Given the description of an element on the screen output the (x, y) to click on. 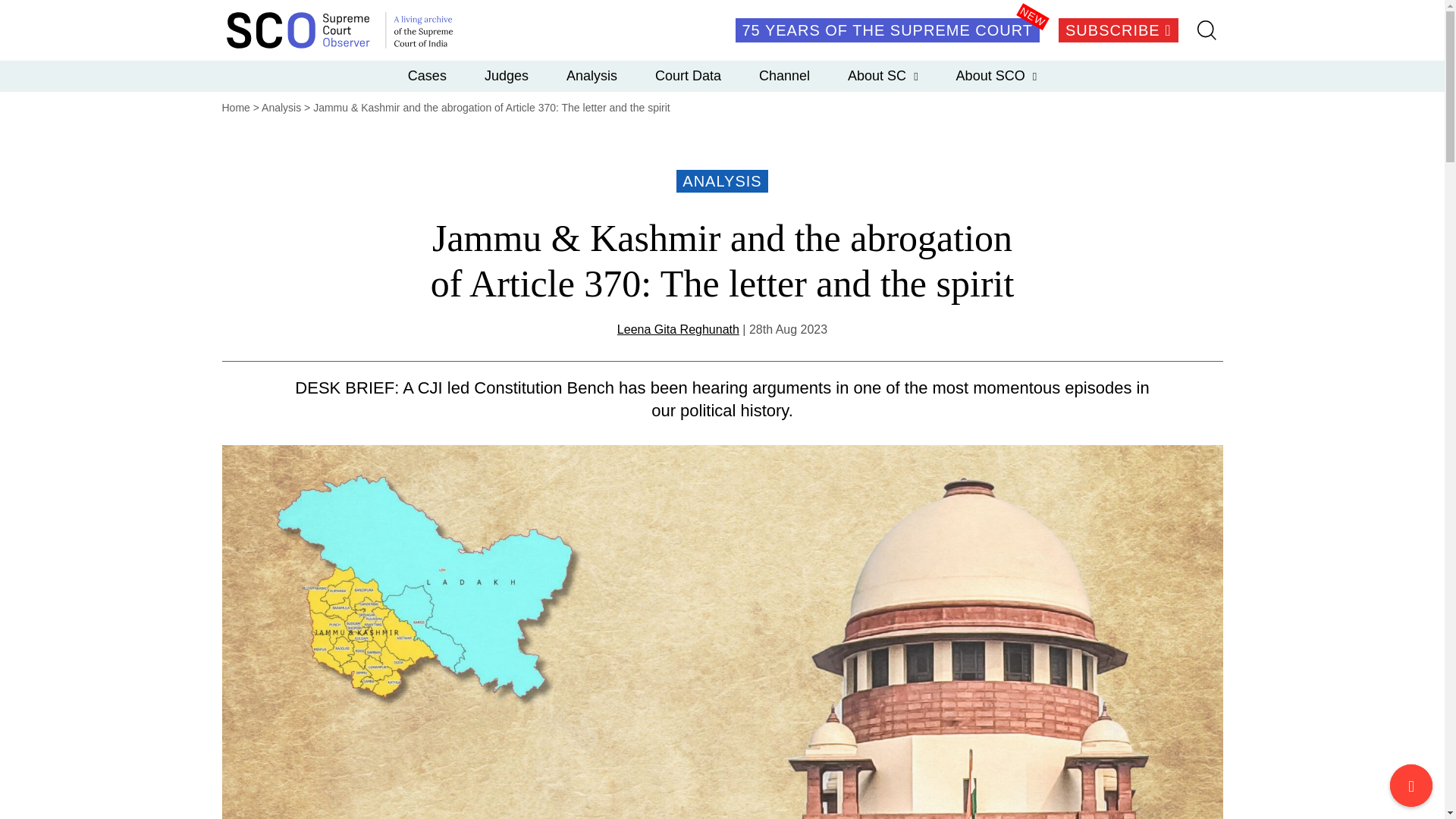
Channel (783, 75)
Leena Gita Reghunath (678, 328)
Analysis (281, 107)
About SC (882, 75)
75 YEARS OF THE SUPREME COURT (888, 30)
Analysis (591, 75)
SUBSCRIBE (1117, 30)
Cases (426, 75)
About SCO (996, 75)
Court Data (687, 75)
